Given the description of an element on the screen output the (x, y) to click on. 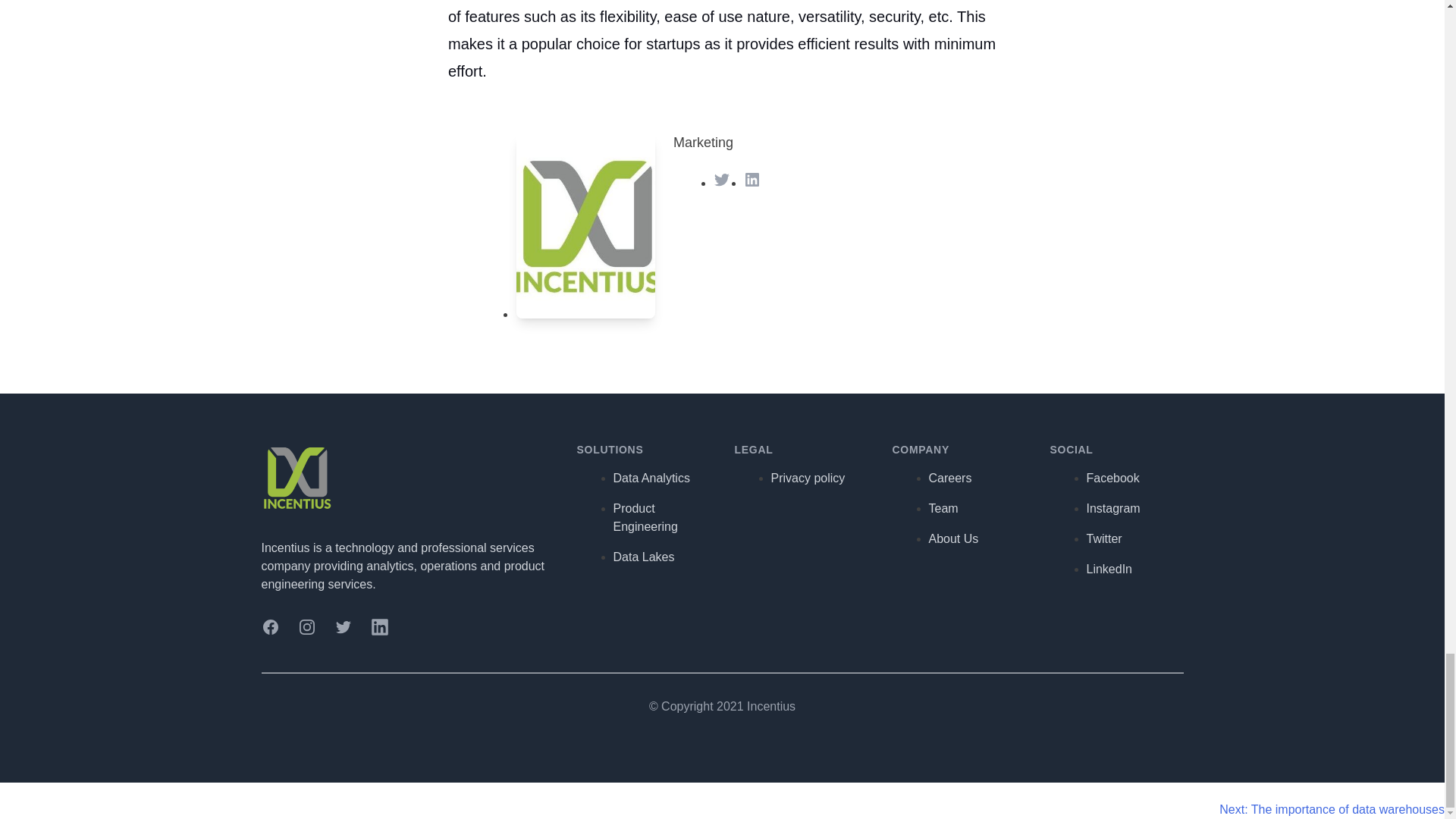
Instagram (306, 627)
Twitter (342, 627)
LinkedIn (752, 179)
Data Analytics (650, 477)
Facebook (269, 627)
LinkedIn (378, 627)
Twitter (721, 179)
